Given the description of an element on the screen output the (x, y) to click on. 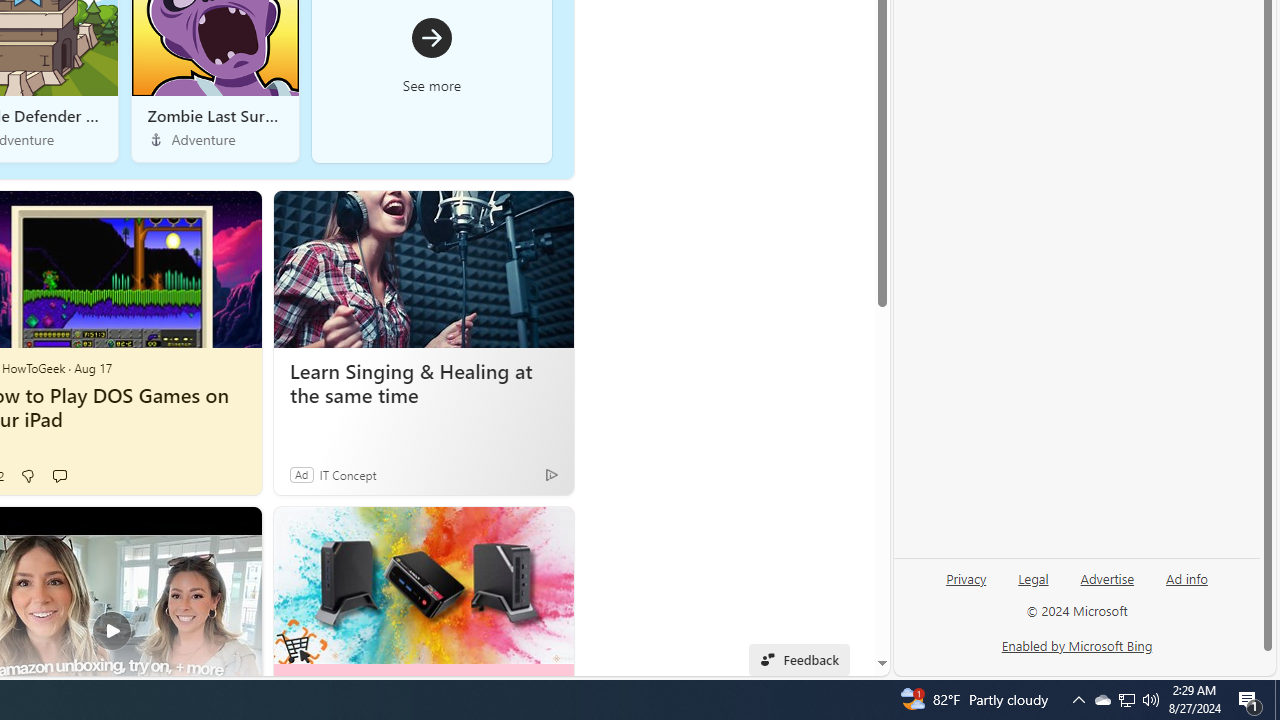
Ad Choice (551, 474)
Ad info (1186, 586)
Learn Singing & Healing at the same time (423, 384)
Privacy (965, 577)
Start the conversation (59, 475)
